Given the description of an element on the screen output the (x, y) to click on. 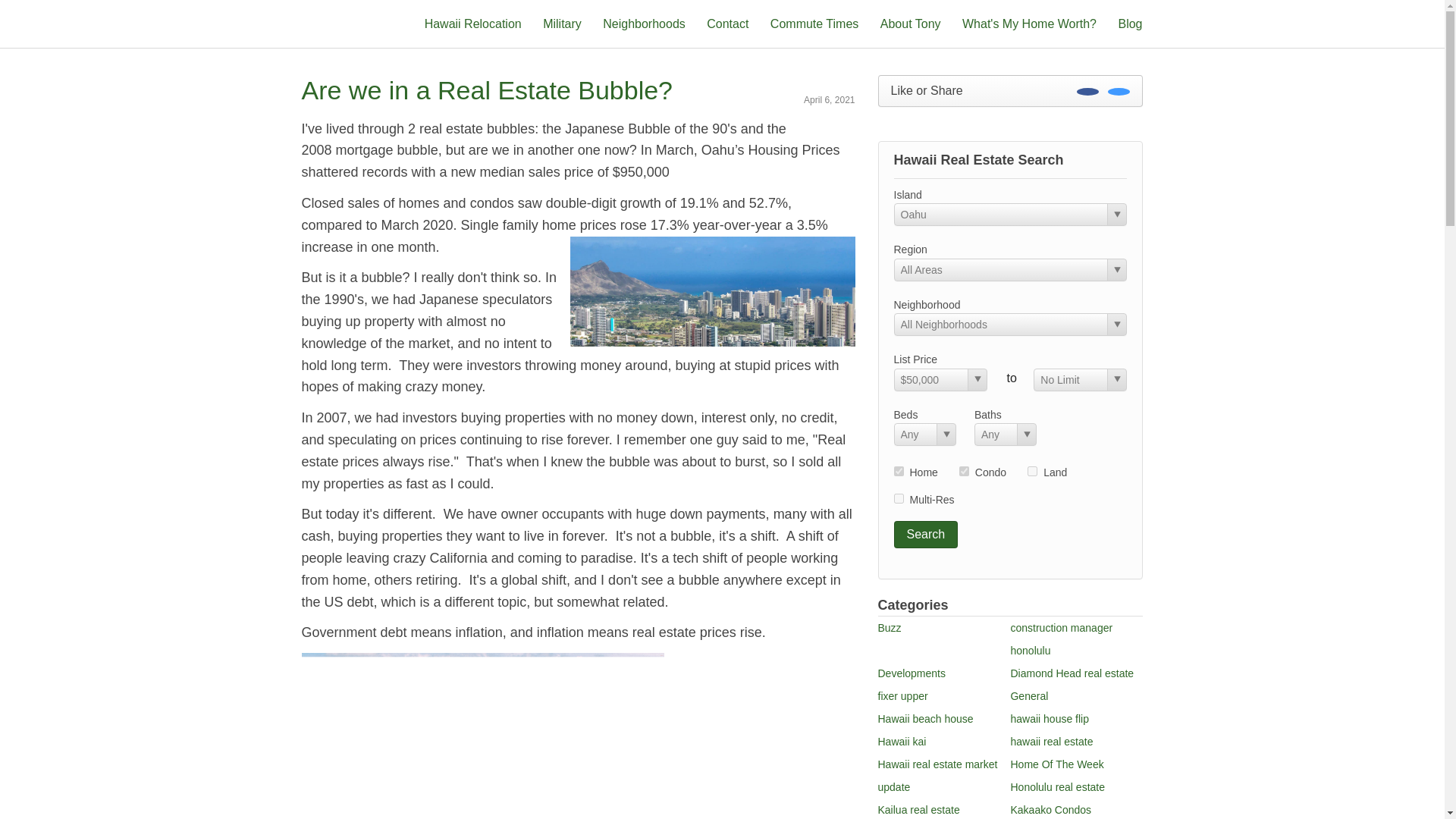
General (1029, 695)
Hawaii Relocation (473, 23)
hawaii real estate (1051, 741)
Honolulu real estate (1057, 787)
Kailua real estate (918, 809)
Neighborhoods (643, 23)
construction manager honolulu (1061, 638)
Military (561, 23)
Hawaii real estate market update (937, 775)
Buzz (889, 627)
